Given the description of an element on the screen output the (x, y) to click on. 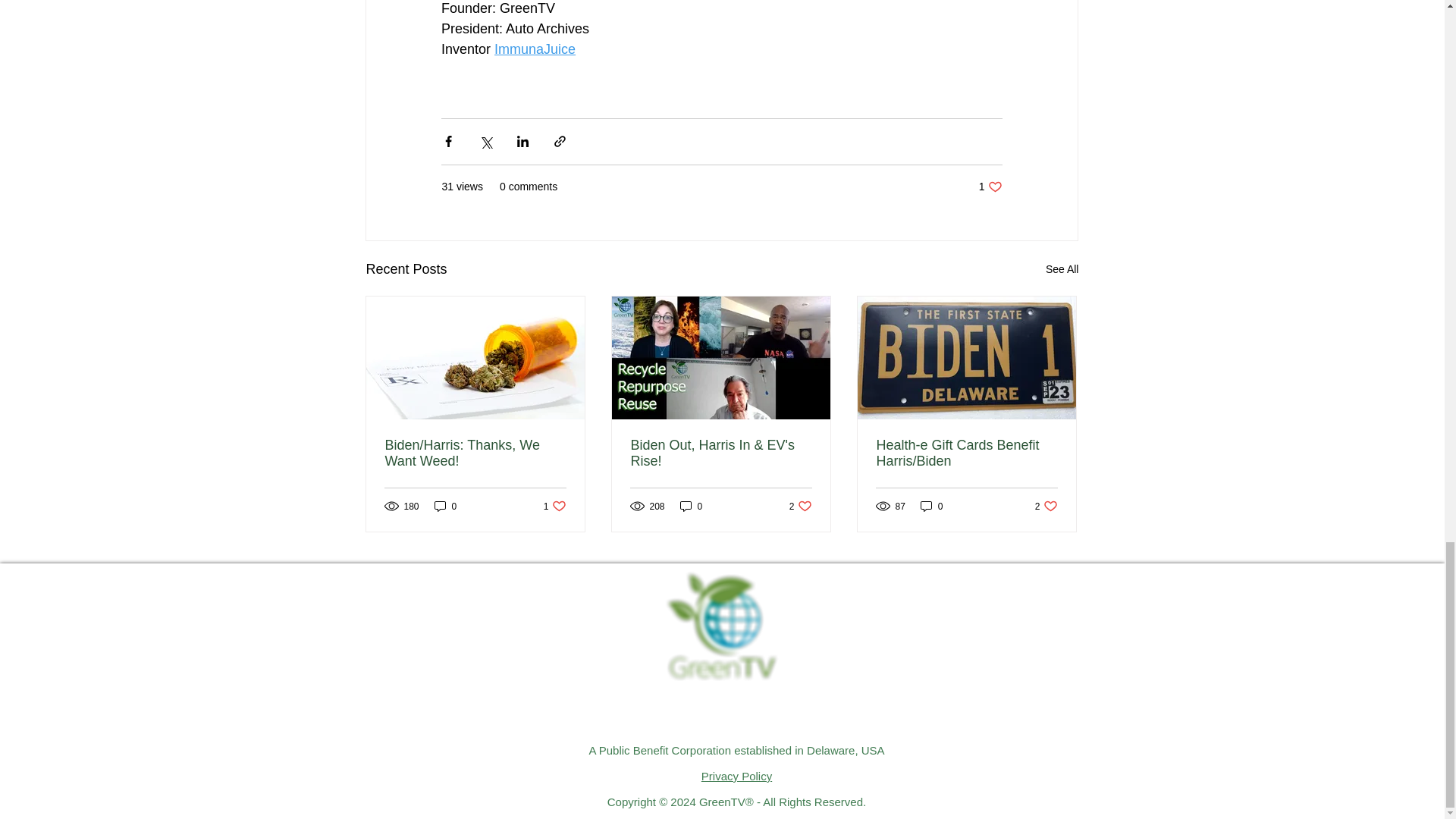
ImmunaJuice (990, 186)
See All (535, 48)
